Given the description of an element on the screen output the (x, y) to click on. 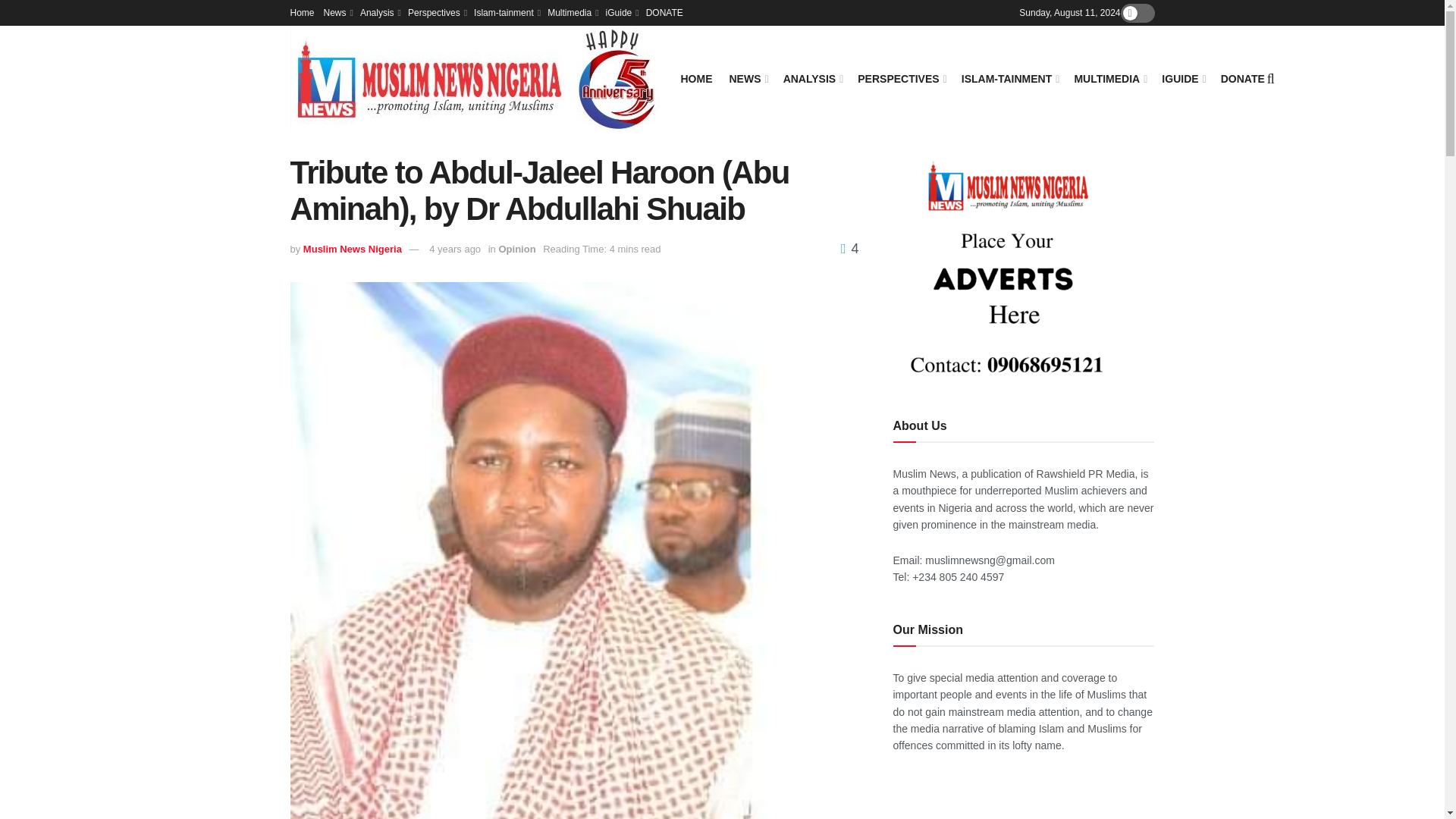
iGuide (621, 12)
Home (301, 12)
Islam-tainment (506, 12)
Analysis (378, 12)
DONATE (664, 12)
NEWS (748, 78)
Multimedia (571, 12)
News (336, 12)
Perspectives (435, 12)
HOME (697, 78)
